Given the description of an element on the screen output the (x, y) to click on. 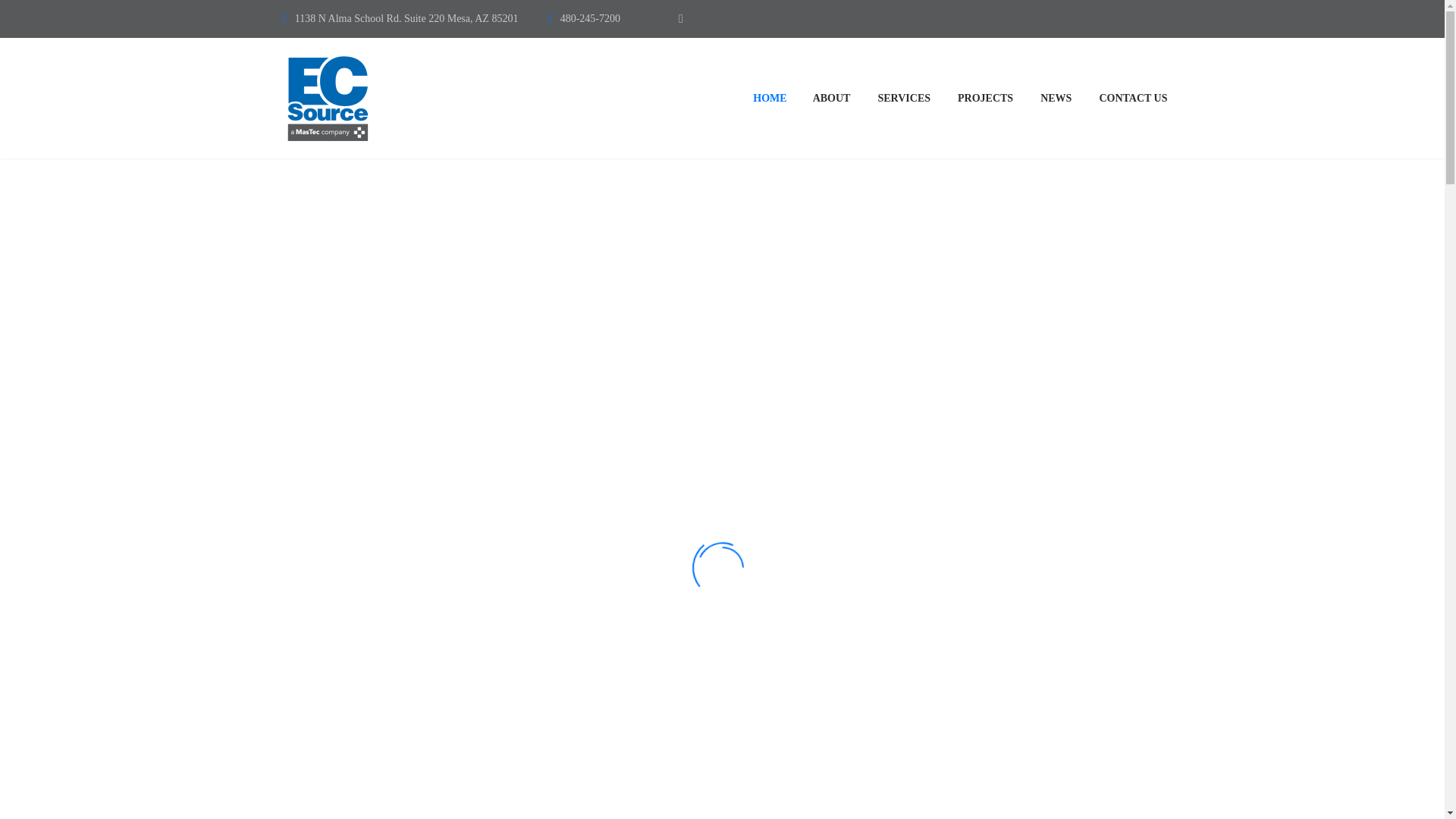
CONTACT US (1132, 97)
HOME (769, 97)
ABOUT (831, 97)
PROJECTS (985, 97)
LinkedIn (681, 19)
480-245-7200 (590, 18)
SERVICES (904, 97)
NEWS (1056, 97)
